Given the description of an element on the screen output the (x, y) to click on. 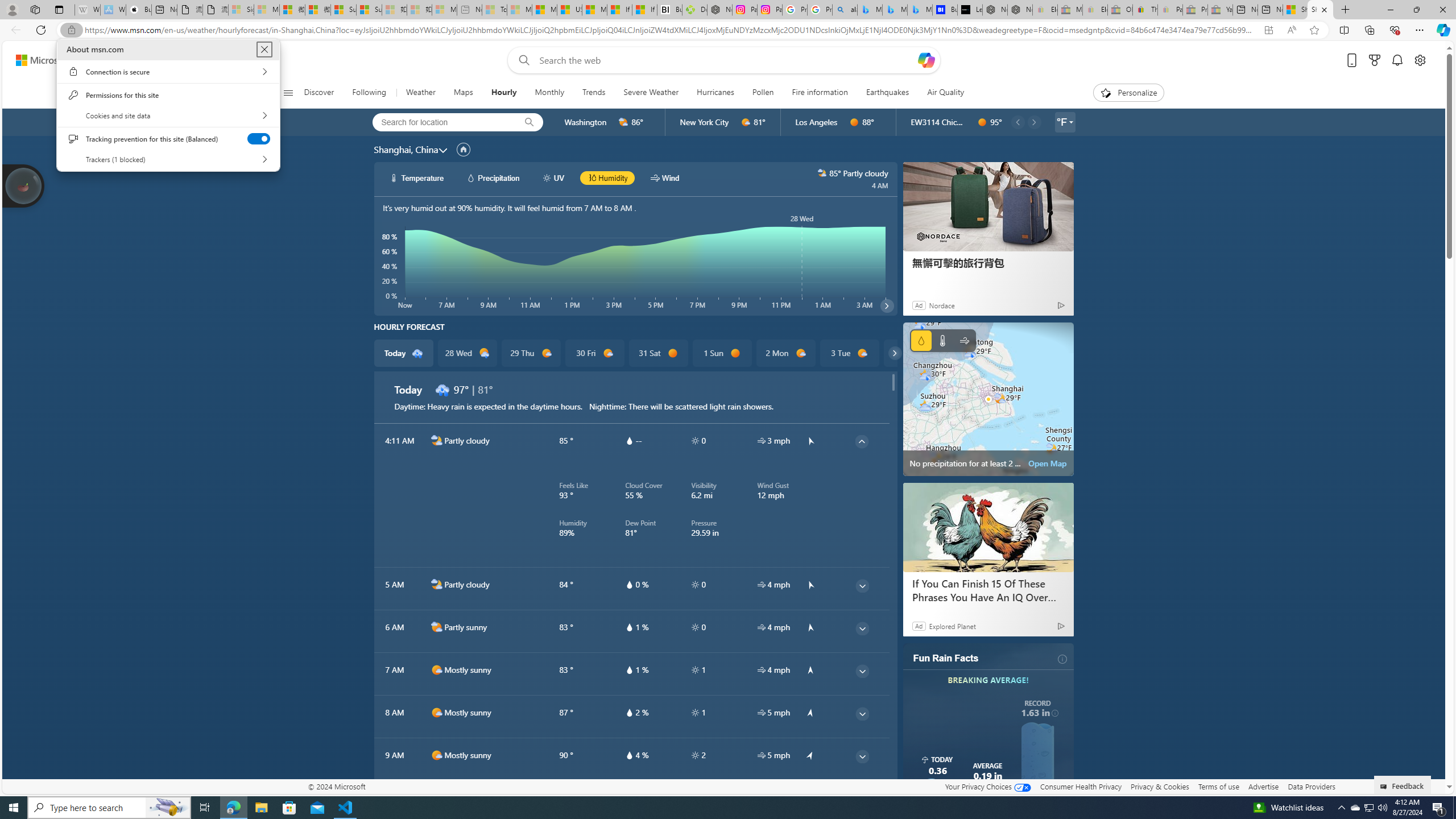
Search for location (440, 122)
Watchlist ideas (1287, 807)
Buy iPad - Apple (137, 9)
common/arrow (809, 797)
Earthquakes (887, 92)
User Promoted Notification Area (1368, 807)
locationBar/triangle (1070, 122)
30 Fri d1000 (594, 352)
hourlyChart/windWhite (655, 177)
Shanghai, China (406, 149)
hourlyChart/uvWhite UV (553, 178)
